Given the description of an element on the screen output the (x, y) to click on. 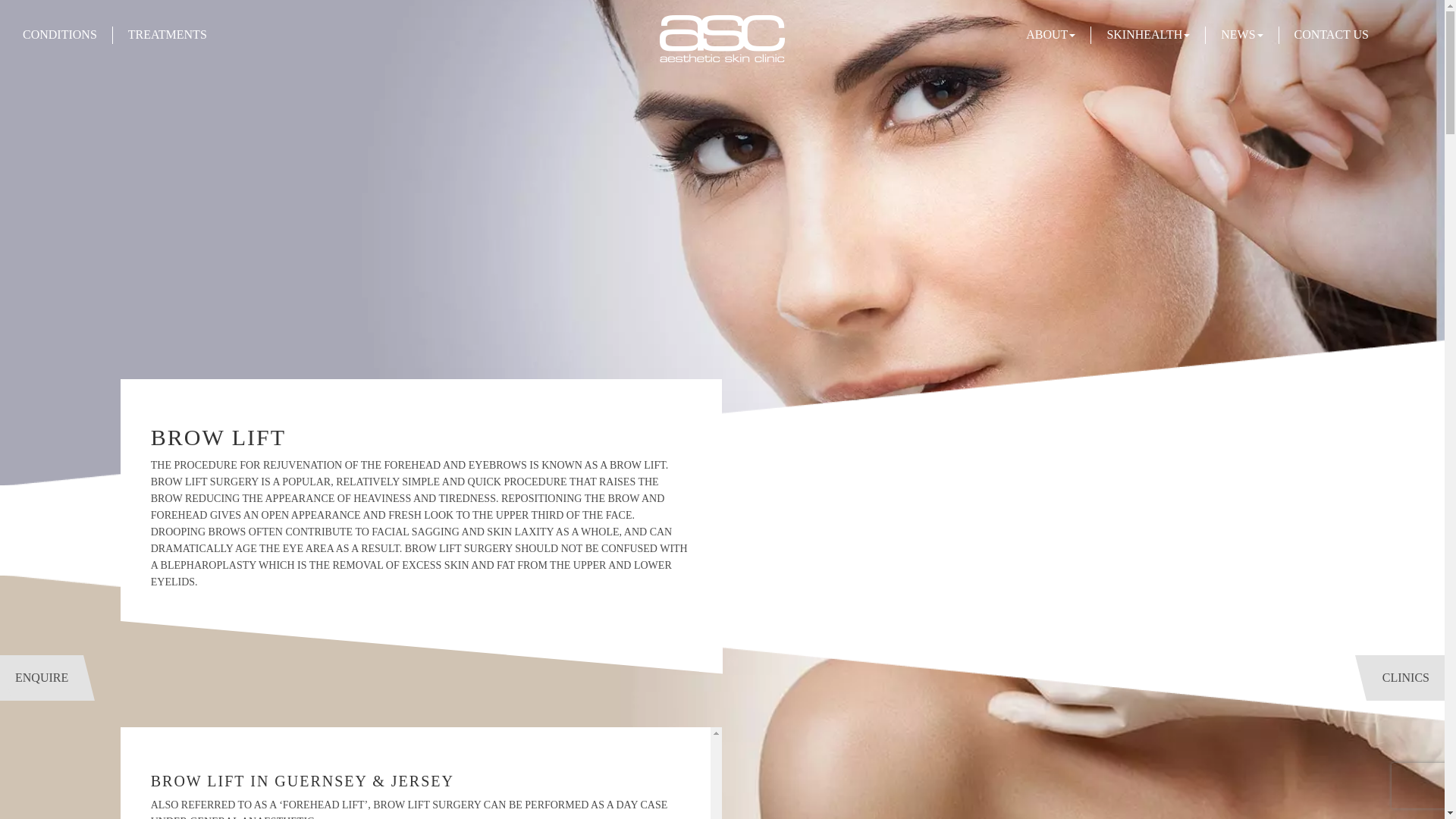
CONTACT US (1331, 33)
CONDITIONS (60, 33)
ABOUT (1050, 33)
TREATMENTS (167, 33)
SKINHEALTH (1147, 33)
NEWS (1241, 33)
ENQUIRE (41, 677)
